Given the description of an element on the screen output the (x, y) to click on. 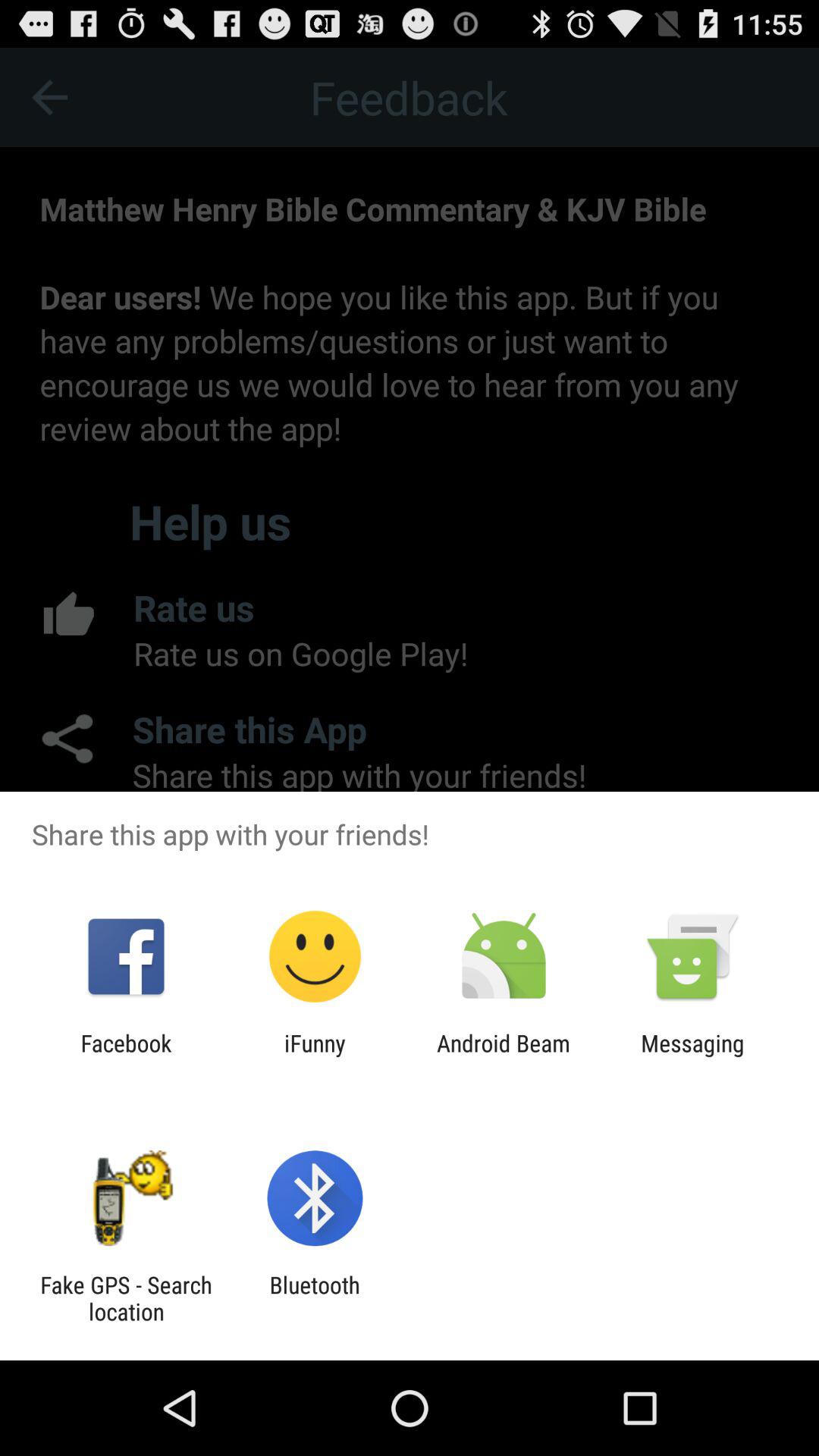
turn off the icon to the left of the messaging app (503, 1056)
